Given the description of an element on the screen output the (x, y) to click on. 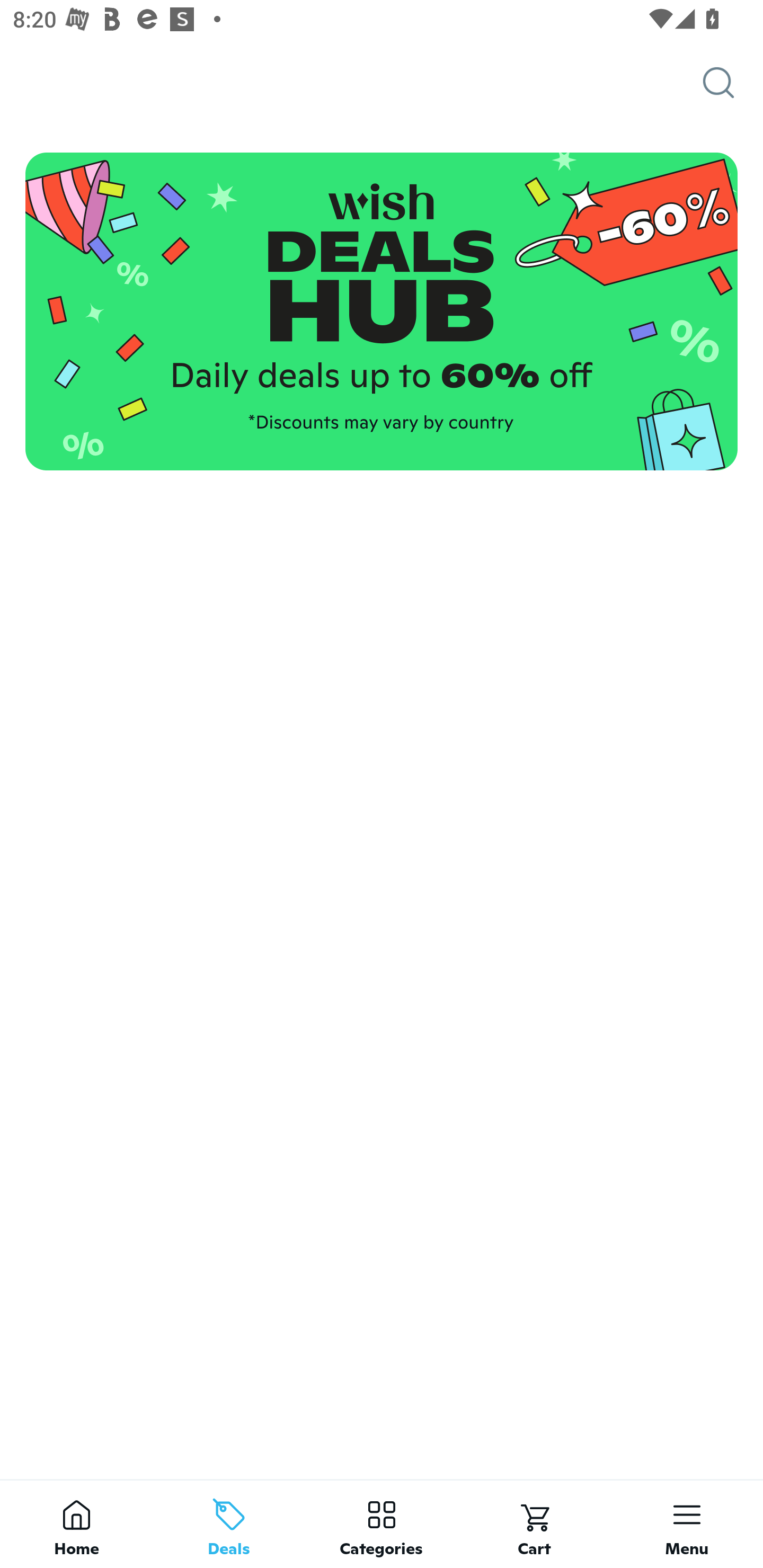
Search (732, 82)
Home (76, 1523)
Deals (228, 1523)
Categories (381, 1523)
Cart (533, 1523)
Menu (686, 1523)
